Given the description of an element on the screen output the (x, y) to click on. 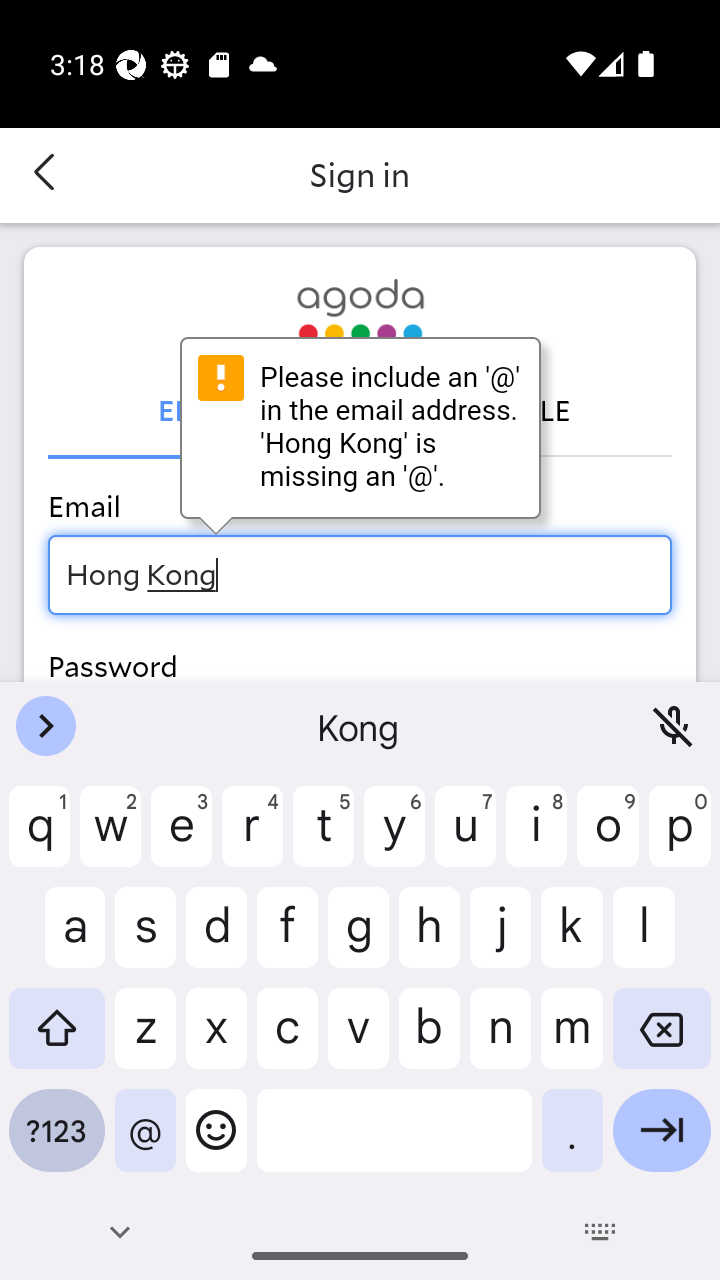
Hong Kong (359, 574)
